Given the description of an element on the screen output the (x, y) to click on. 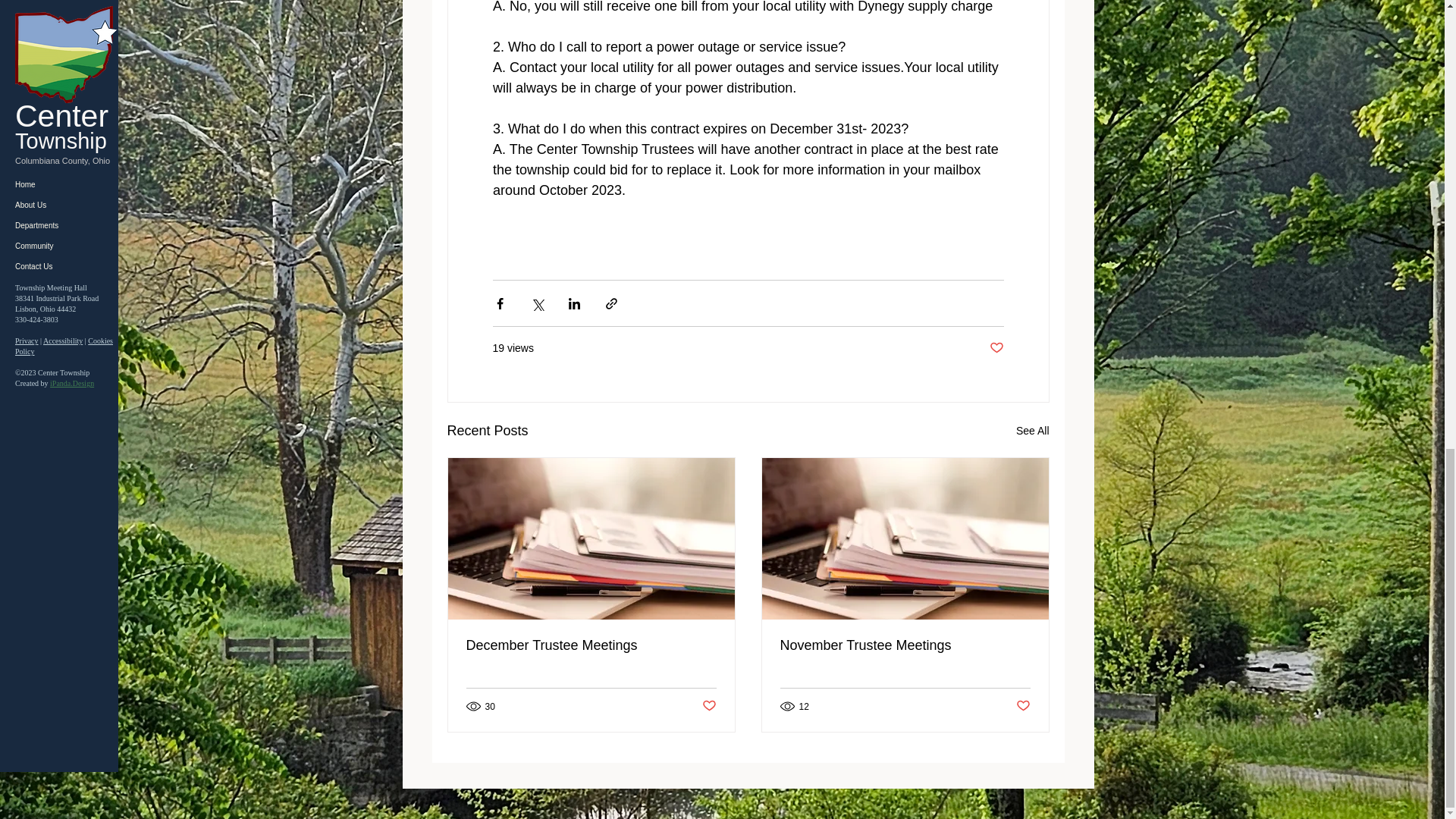
November Trustee Meetings (903, 645)
Post not marked as liked (995, 348)
See All (1032, 431)
Post not marked as liked (708, 706)
December Trustee Meetings (590, 645)
Post not marked as liked (1023, 706)
